Given the description of an element on the screen output the (x, y) to click on. 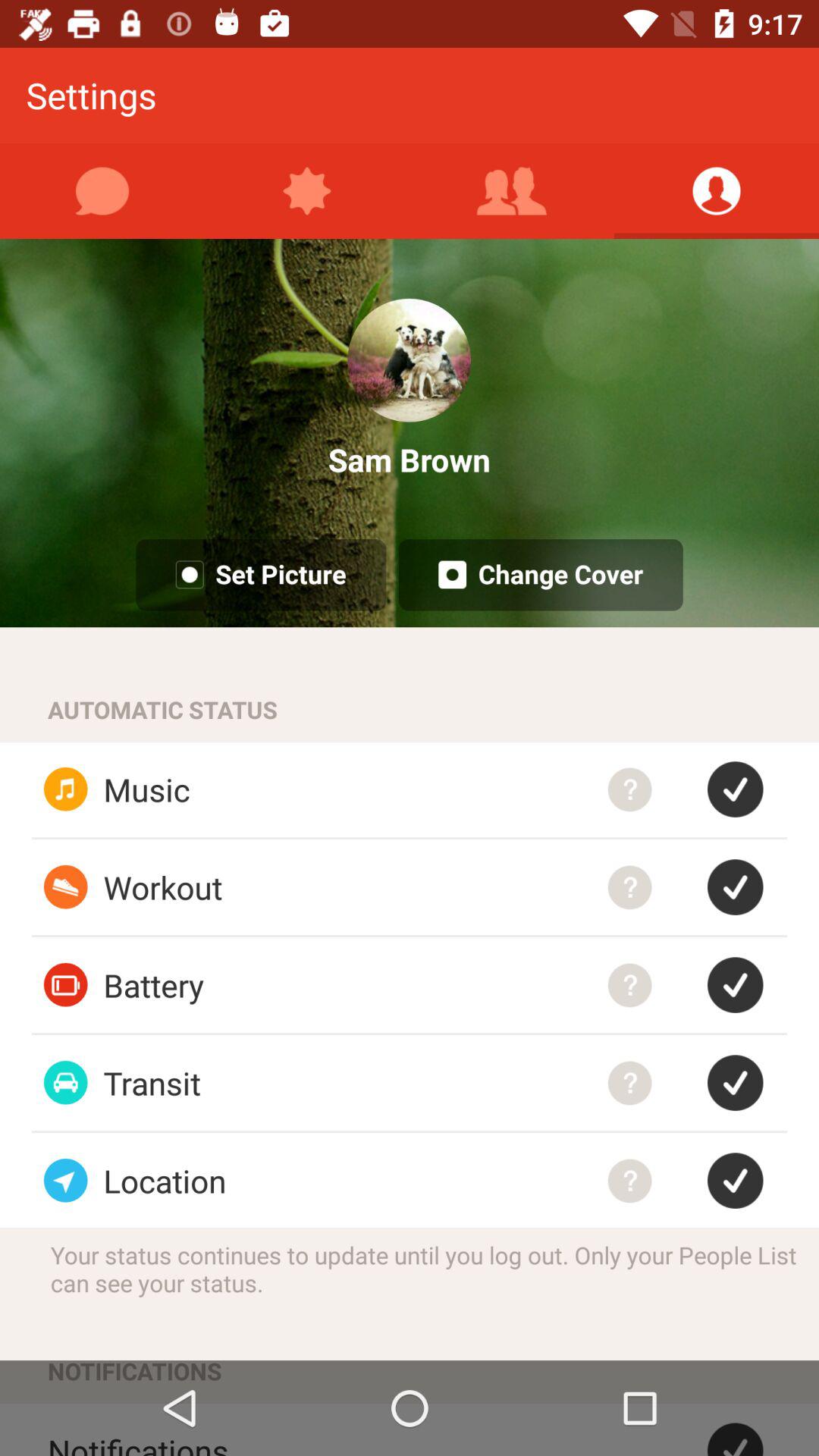
select the third icon below text setting (511, 190)
select the name below the image on the page (409, 459)
select the second icon which is right to location (747, 1180)
select tick mark which is at the right corner of the screen (747, 1429)
go to left of transit (65, 1083)
select change cover button on a page (540, 574)
